Given the description of an element on the screen output the (x, y) to click on. 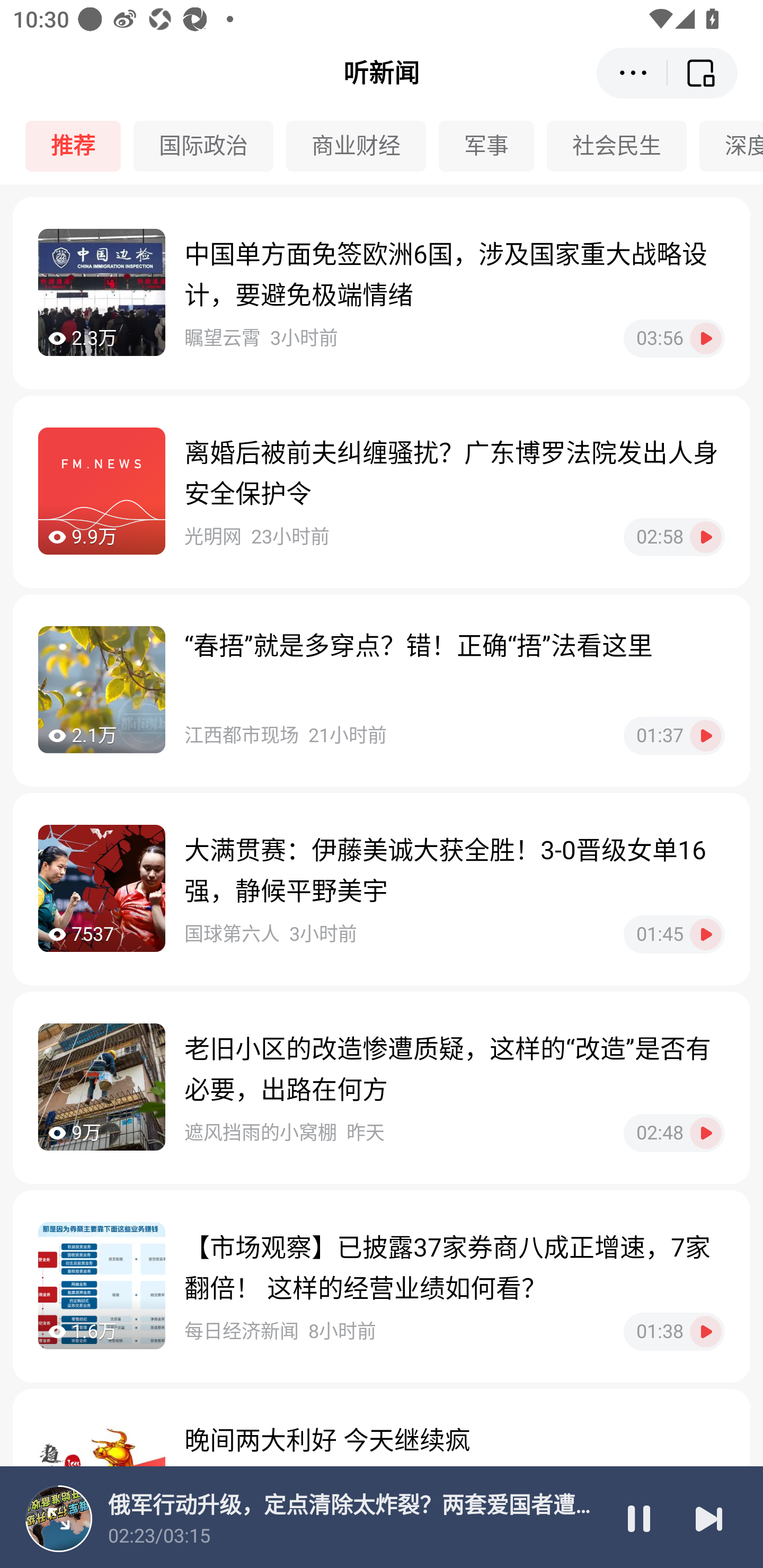
更多 (631, 72)
返回 (702, 72)
推荐 (79, 146)
国际政治 (209, 146)
商业财经 (362, 146)
军事 (492, 146)
社会民生 (623, 146)
2.3万 中国单方面免签欧洲6国，涉及国家重大战略设计，要避免极端情绪 瞩望云霄3小时前 03:56 (381, 292)
03:56 (673, 338)
9.9万 离婚后被前夫纠缠骚扰？广东博罗法院发出人身安全保护令 光明网23小时前 02:58 (381, 491)
02:58 (673, 536)
2.1万 “春捂”就是多穿点？错！正确“捂”法看这里 江西都市现场21小时前 01:37 (381, 690)
01:37 (673, 735)
01:45 (673, 934)
9万 老旧小区的改造惨遭质疑，这样的“改造”是否有必要，出路在何方 遮风挡雨的小窝棚昨天 02:48 (381, 1086)
02:48 (673, 1132)
01:38 (673, 1331)
15.4万 晚间两大利好 今天继续疯 趋势巡航V11小时前 04:05 (381, 1478)
暂停 (638, 1518)
下一篇 (708, 1518)
